Given the description of an element on the screen output the (x, y) to click on. 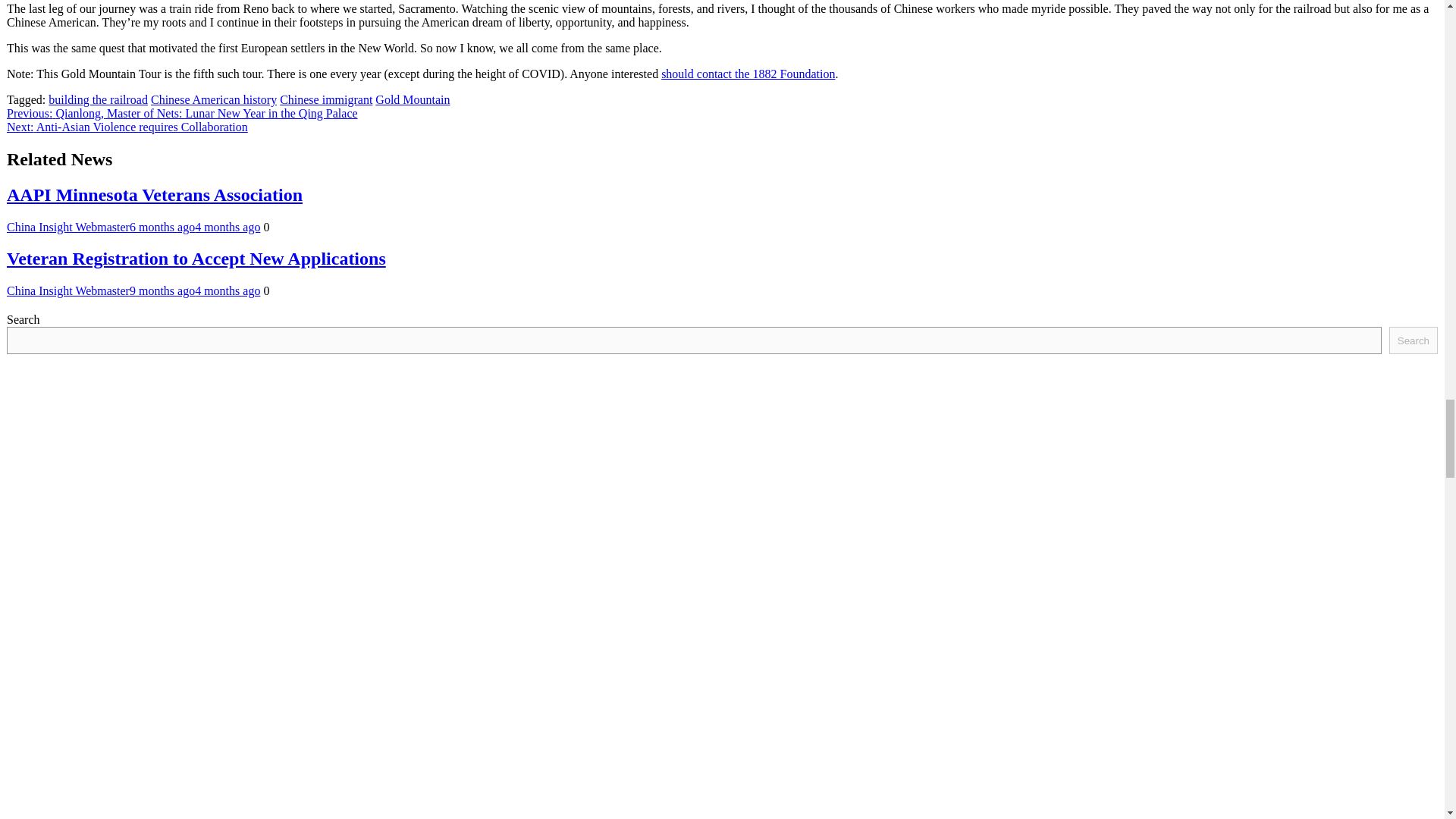
Chinese American history (213, 99)
Veteran Registration to Accept New Applications (196, 258)
Next: Anti-Asian Violence requires Collaboration (127, 126)
Gold Mountain (412, 99)
China Insight Webmaster (68, 226)
AAPI Minnesota Veterans Association (154, 194)
building the railroad (98, 99)
6 months ago4 months ago (194, 226)
Chinese immigrant (325, 99)
should contact the 1882 Foundation (747, 73)
